Given the description of an element on the screen output the (x, y) to click on. 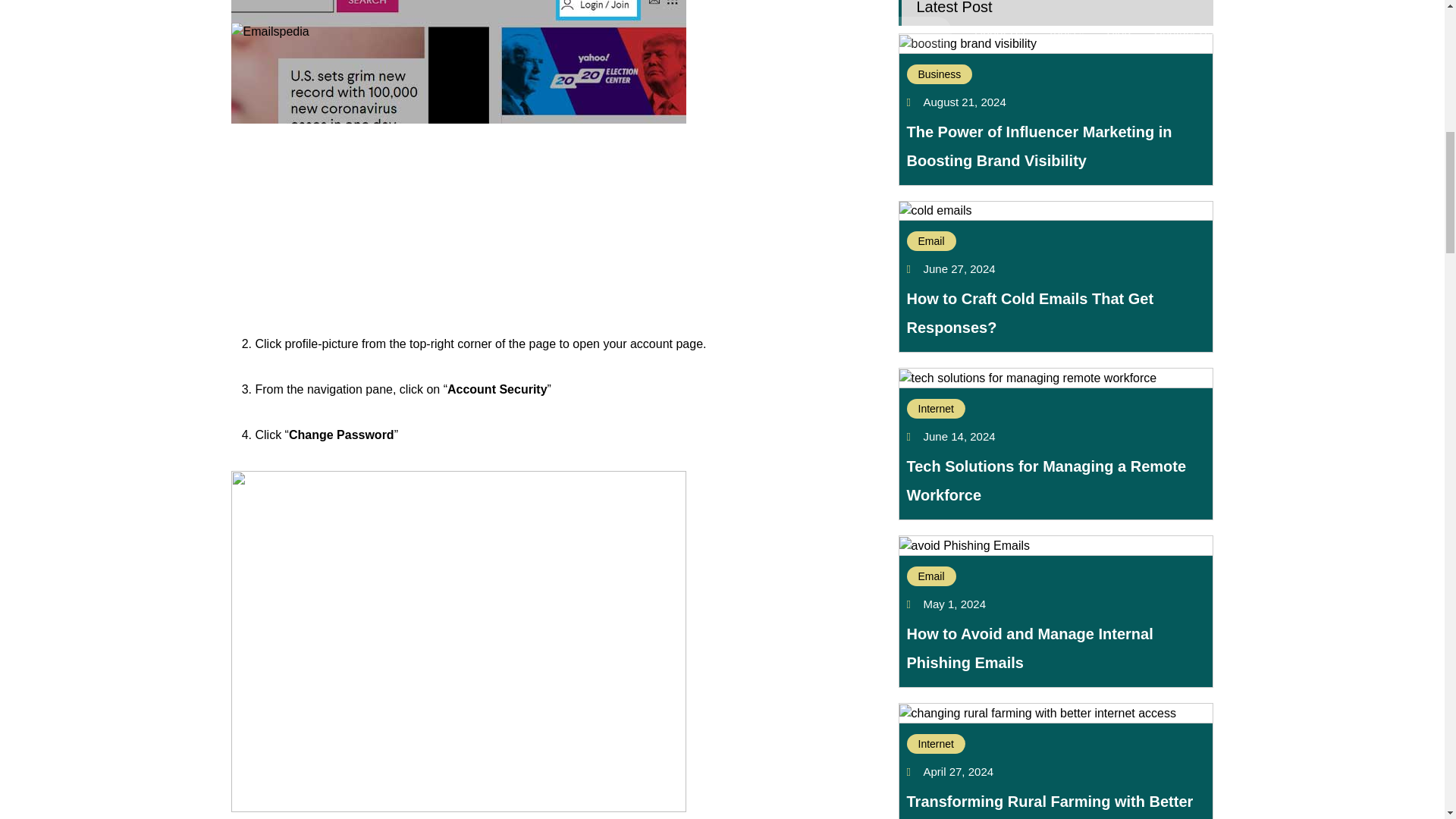
Email (931, 576)
Internet (936, 743)
Business (939, 74)
Transforming Rural Farming with Better Internet Access (1050, 806)
Tech Solutions for Managing a Remote Workforce (1046, 480)
Internet (936, 408)
How to Avoid and Manage Internal Phishing Emails (1030, 647)
Email (931, 240)
How to Craft Cold Emails That Get Responses? (1030, 312)
